Given the description of an element on the screen output the (x, y) to click on. 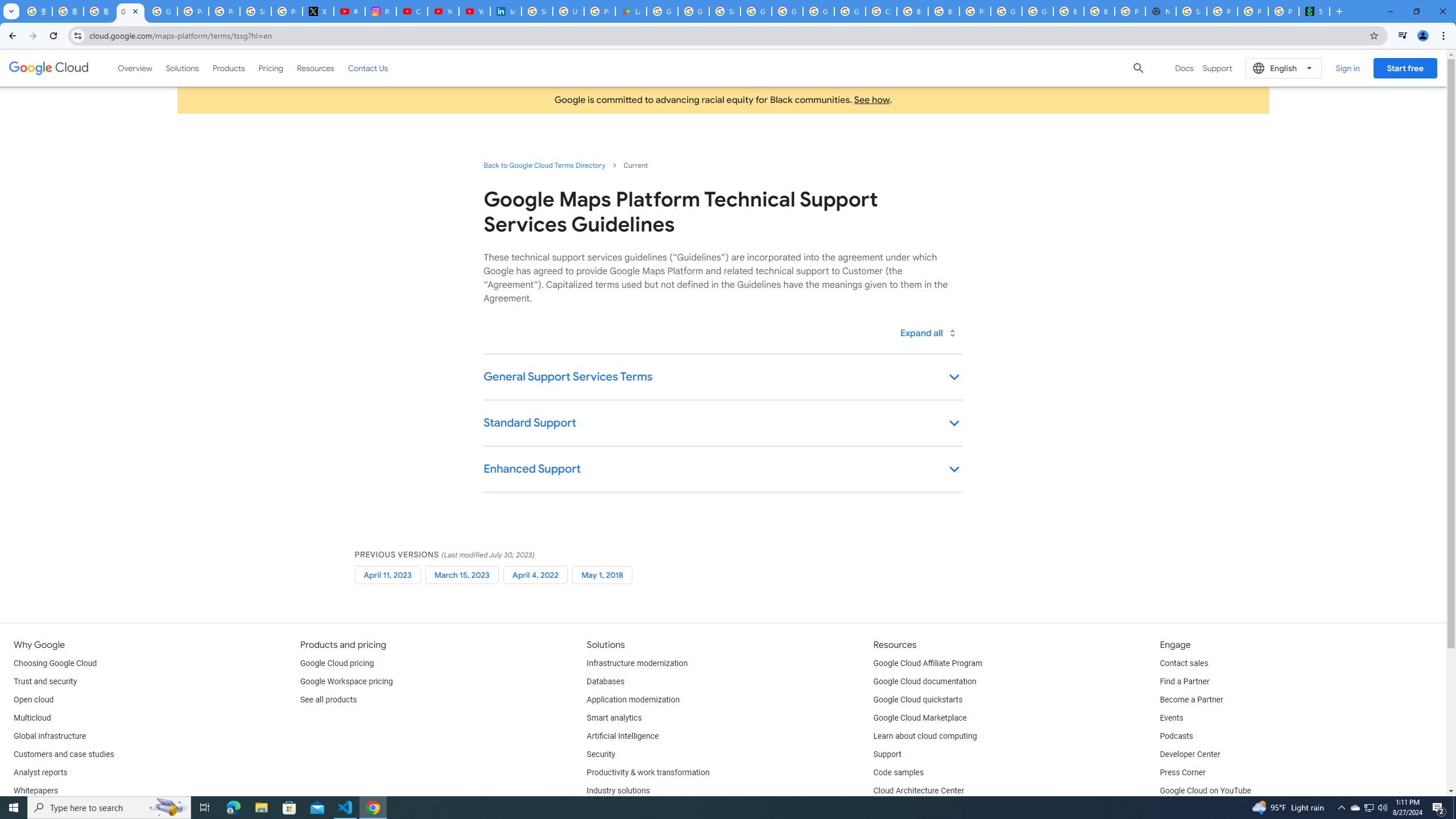
Events (1170, 718)
Google Cloud Affiliate Program (927, 663)
X (318, 11)
Google Cloud Marketplace (919, 718)
Identity verification via Persona | LinkedIn Help (505, 11)
Google Cloud Platform (1005, 11)
Google Cloud quickstarts (917, 700)
Contact Us (368, 67)
Learn about cloud computing (924, 736)
Press Corner (1181, 773)
